Given the description of an element on the screen output the (x, y) to click on. 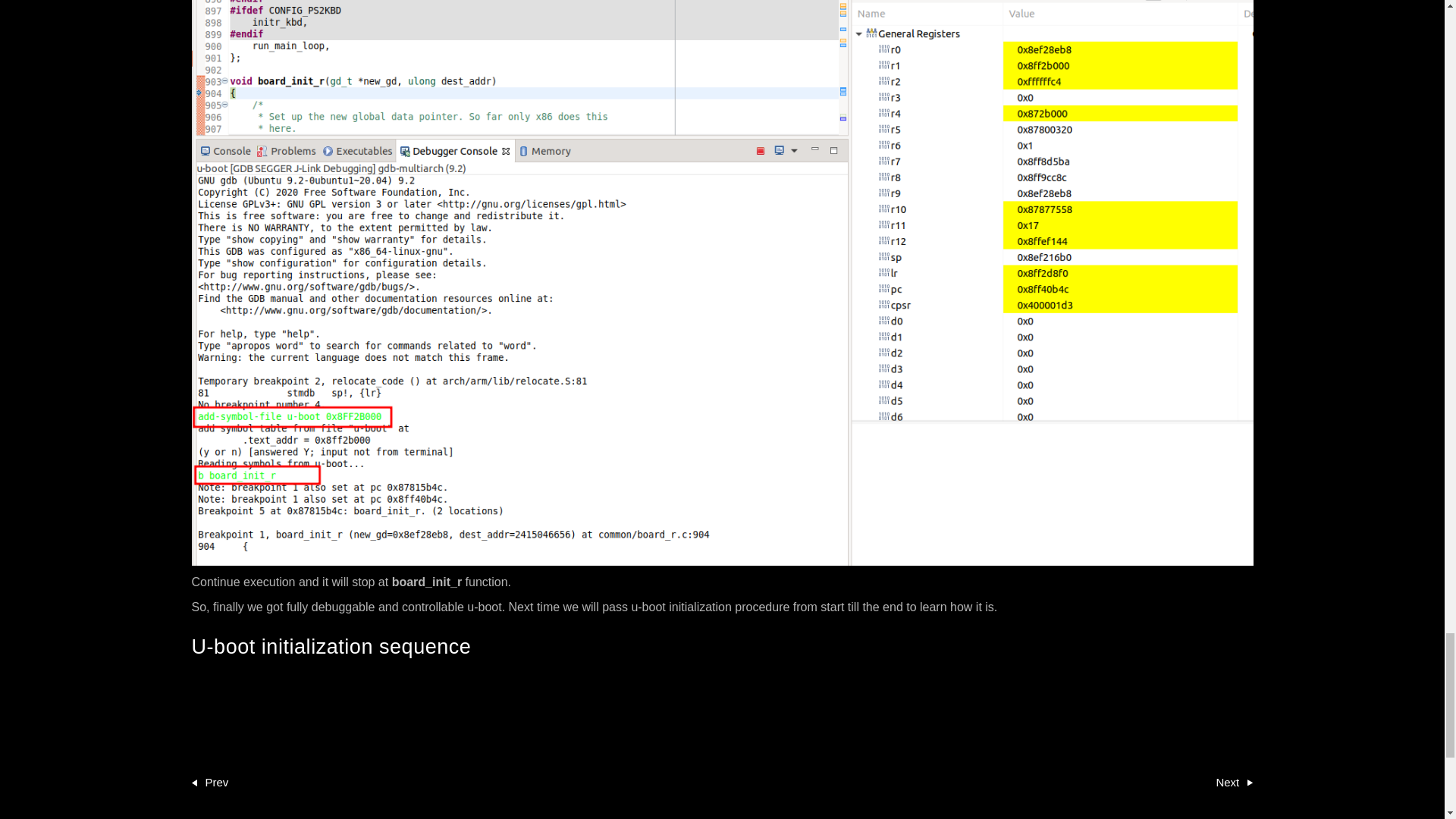
Prev (209, 782)
Next (1233, 782)
